Given the description of an element on the screen output the (x, y) to click on. 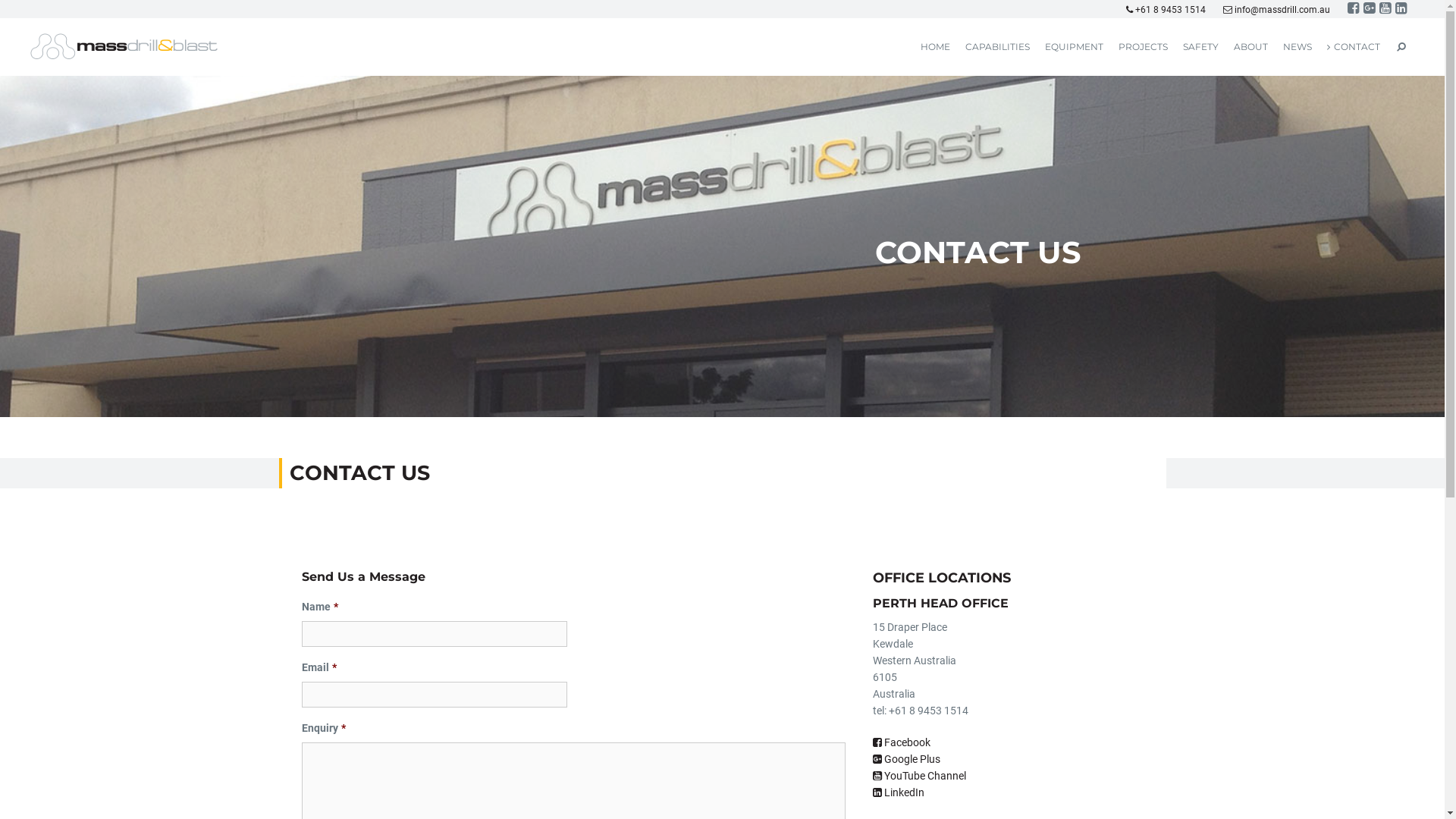
PROJECTS Element type: text (1142, 46)
Mass Drill & Blast Element type: hover (124, 46)
HOME Element type: text (935, 46)
LinkedIn Element type: text (898, 792)
Mass Drill & Blast Element type: hover (124, 44)
Facebook Element type: text (901, 742)
YouTube Channel Element type: text (919, 775)
CAPABILITIES Element type: text (997, 46)
SEARCH Element type: text (1400, 46)
CONTACT Element type: text (1353, 46)
SAFETY Element type: text (1200, 46)
EQUIPMENT Element type: text (1073, 46)
ABOUT Element type: text (1250, 46)
Google Plus Element type: text (906, 759)
NEWS Element type: text (1297, 46)
